Given the description of an element on the screen output the (x, y) to click on. 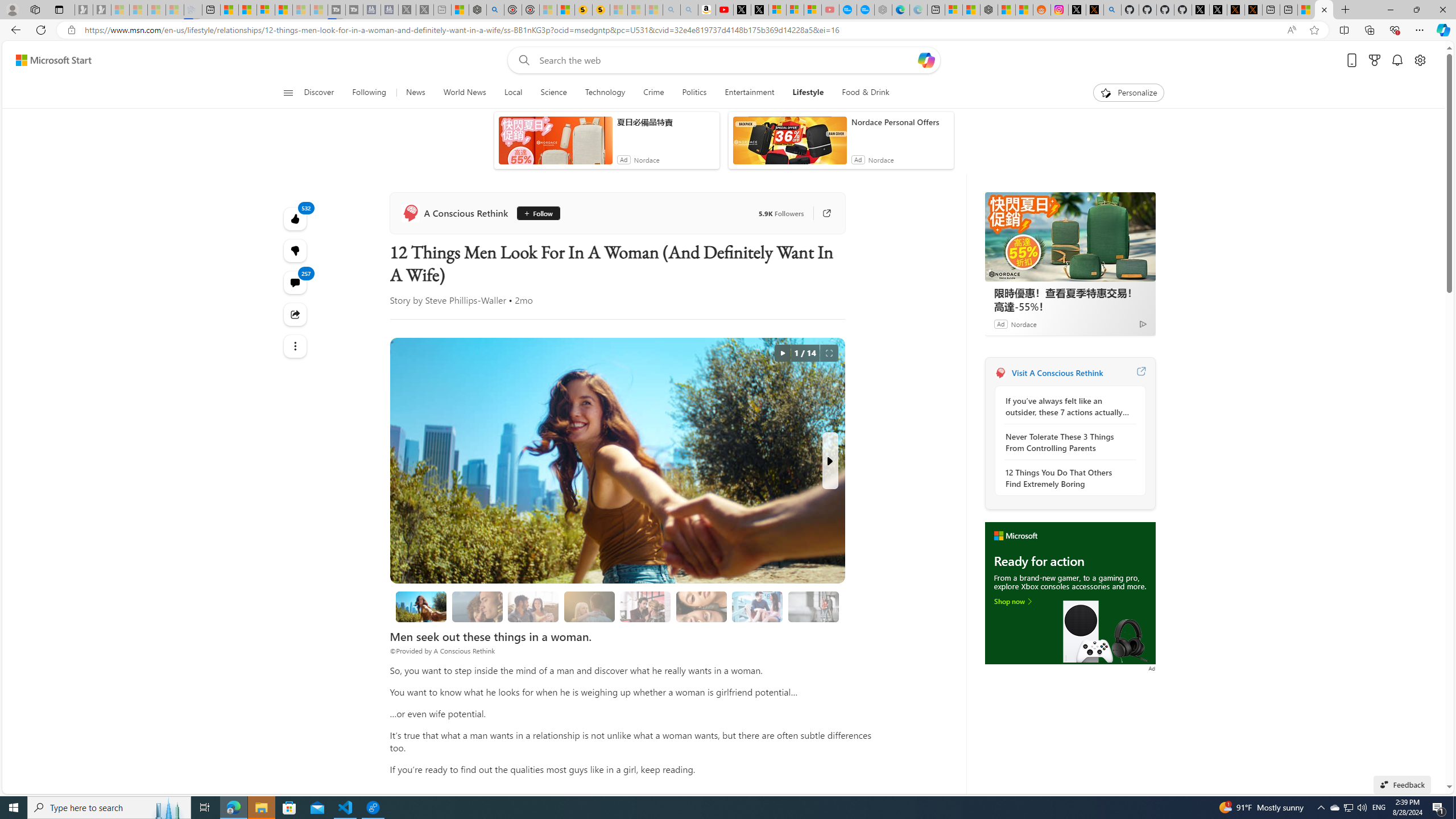
4. She is supportive. (644, 606)
Science (553, 92)
News (414, 92)
A Conscious Rethink (1000, 372)
Technology (604, 92)
Share this story (295, 314)
5. She is independent. (701, 606)
